Given the description of an element on the screen output the (x, y) to click on. 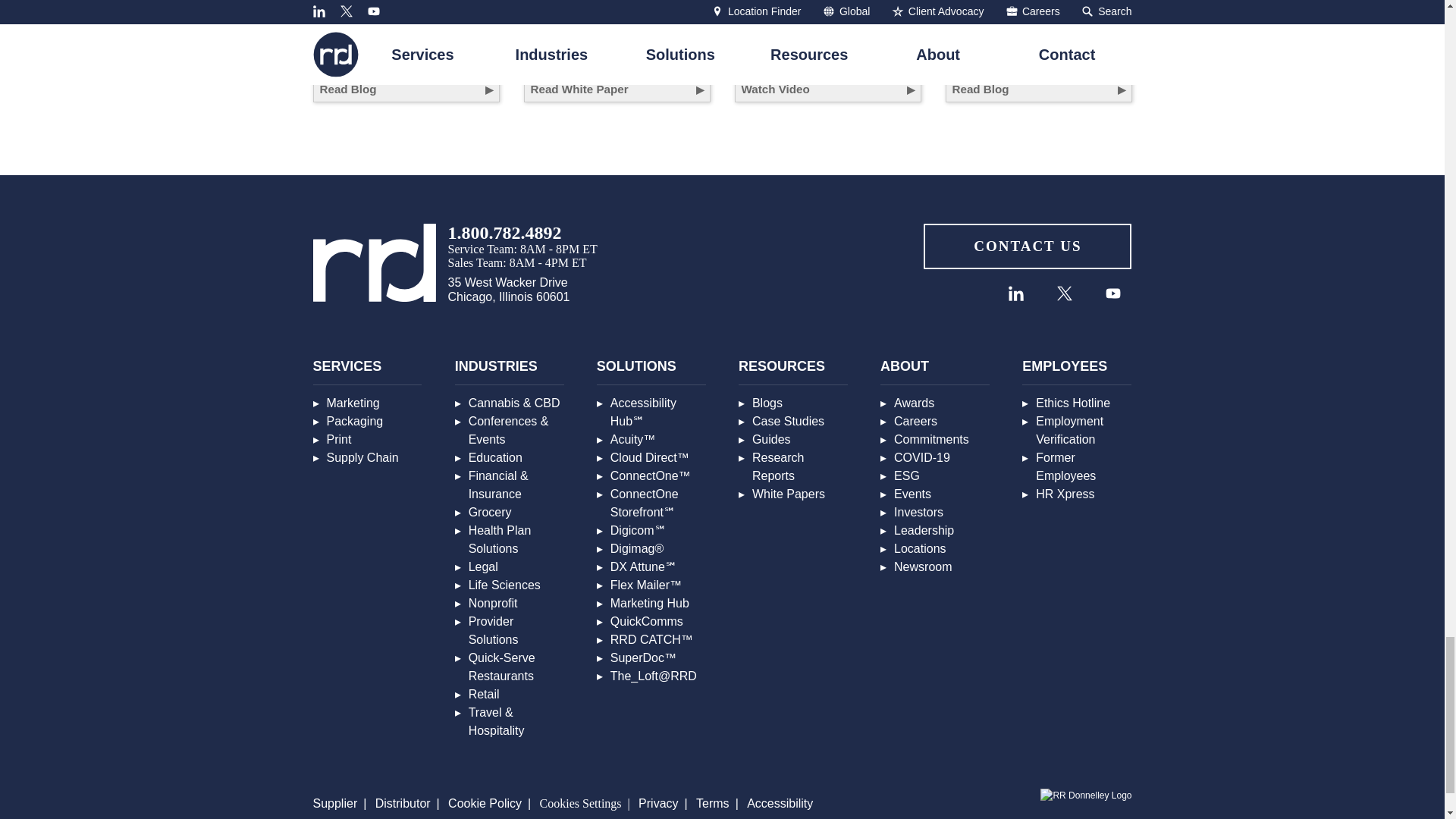
LinkedIn (1015, 293)
Youtube (1112, 293)
LinkedInLinkedIn icon for footer (1016, 293)
Twitter (1064, 293)
rrdlogo for footer (374, 262)
TwitterX icon for footer (1064, 293)
YoutubeYoutube icon for footer (1113, 293)
